Given the description of an element on the screen output the (x, y) to click on. 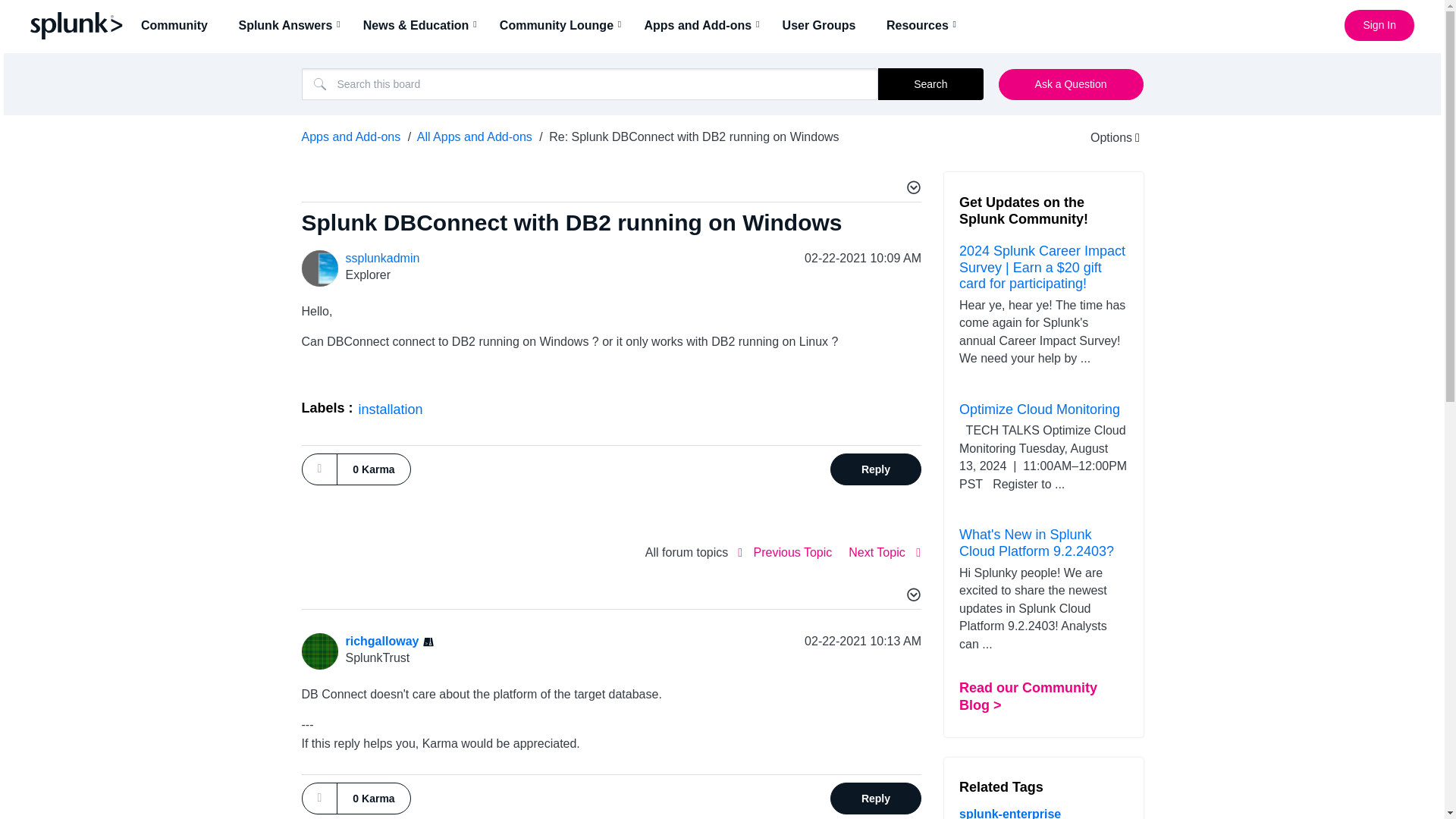
Search (929, 83)
Community (178, 25)
Show option menu (911, 189)
Search (590, 83)
Splunk Answers (289, 25)
Search (929, 83)
Show option menu (1105, 137)
